Given the description of an element on the screen output the (x, y) to click on. 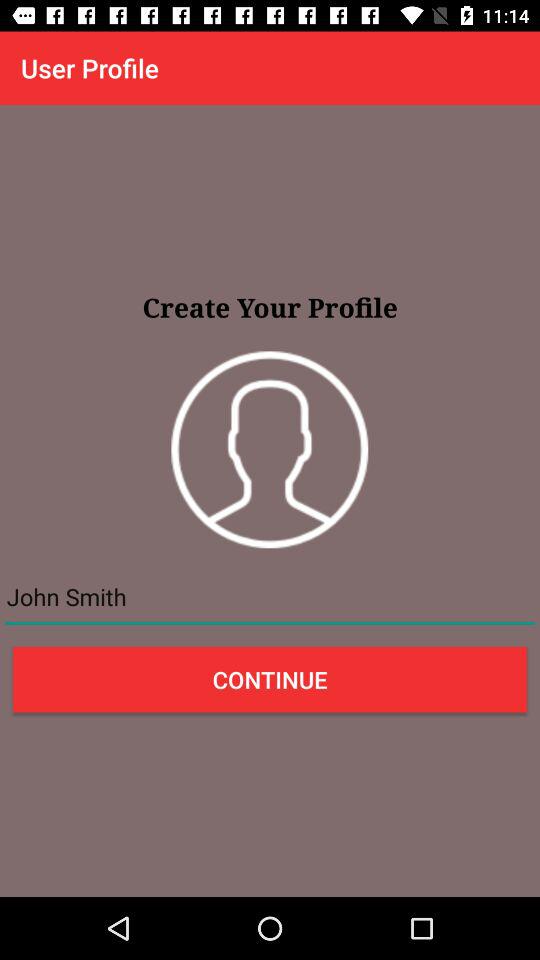
open the item below the create your profile item (269, 449)
